Given the description of an element on the screen output the (x, y) to click on. 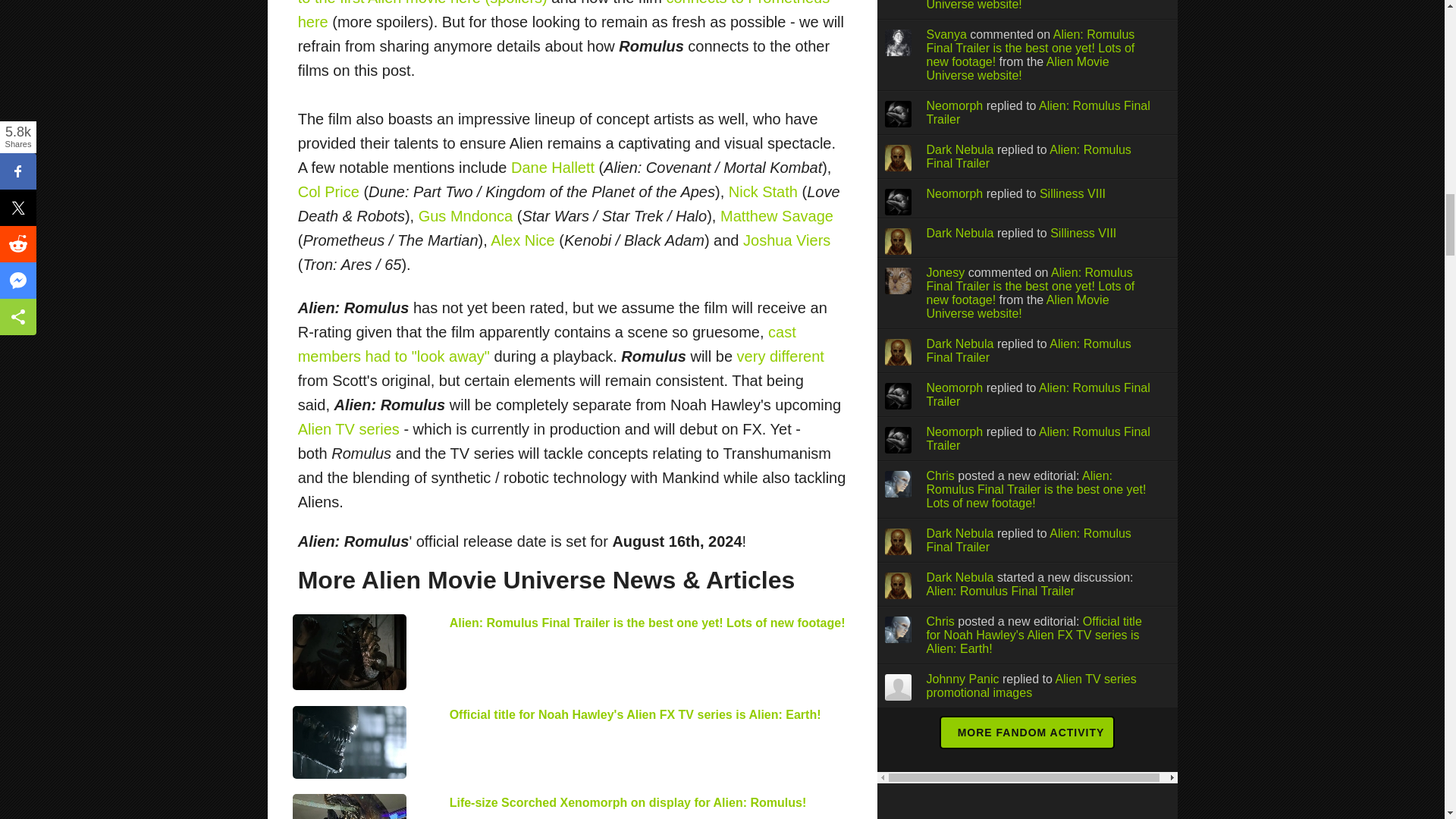
very different (780, 356)
Life-size Scorched Xenomorph on display for Alien: Romulus! (627, 802)
Alex Nice (522, 239)
Joshua Viers (785, 239)
Gus Mndonca (466, 216)
Alien TV series (348, 428)
Matthew Savage (776, 216)
Dane Hallett (552, 167)
connects to Prometheus here (563, 15)
